Given the description of an element on the screen output the (x, y) to click on. 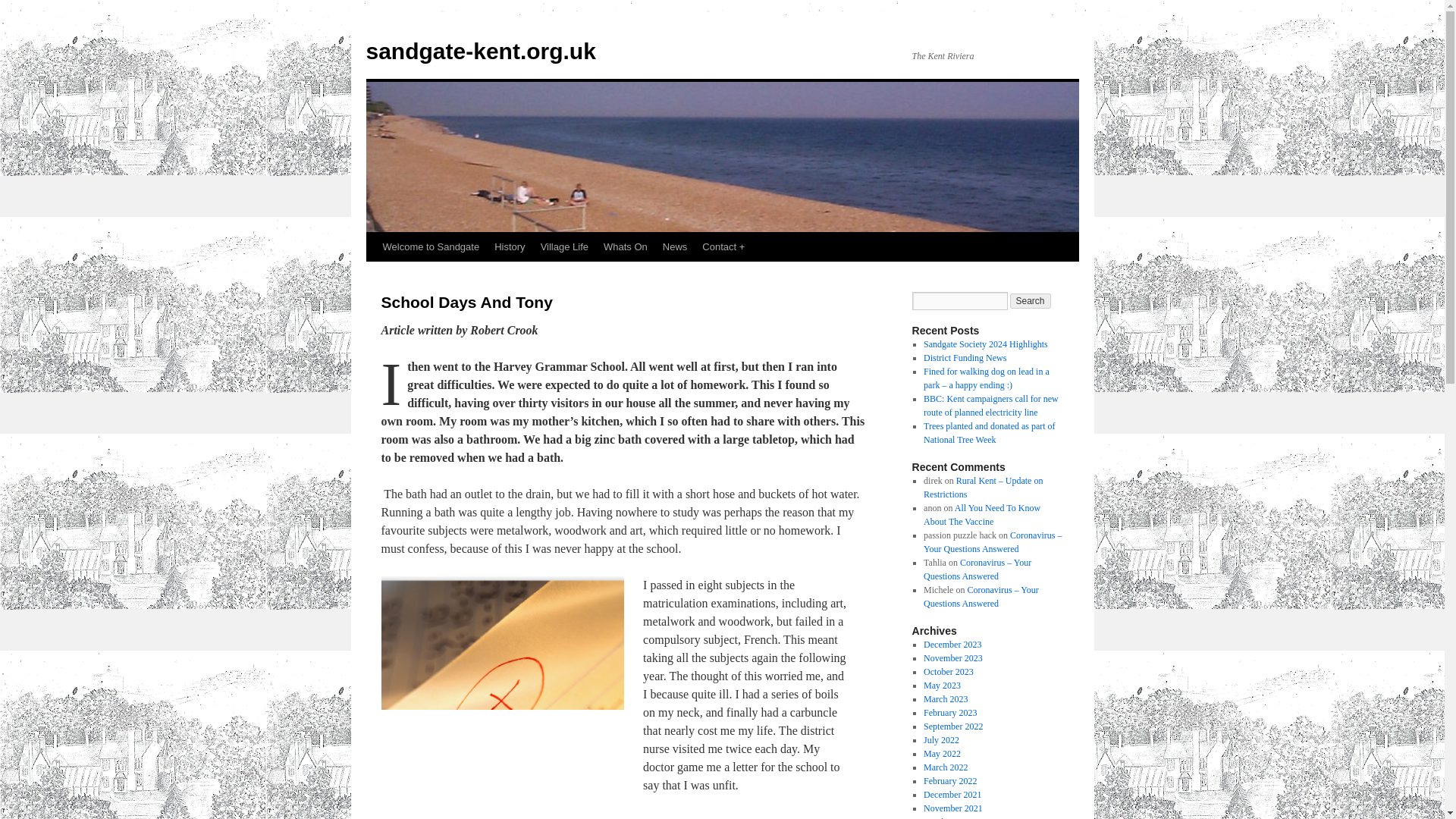
March 2023 (945, 698)
May 2022 (941, 753)
Search (1030, 300)
Trees planted and donated as part of National Tree Week (989, 432)
December 2023 (952, 644)
Village Life (563, 246)
News (675, 246)
February 2022 (949, 780)
Sandgate Society 2024 Highlights (985, 344)
